Given the description of an element on the screen output the (x, y) to click on. 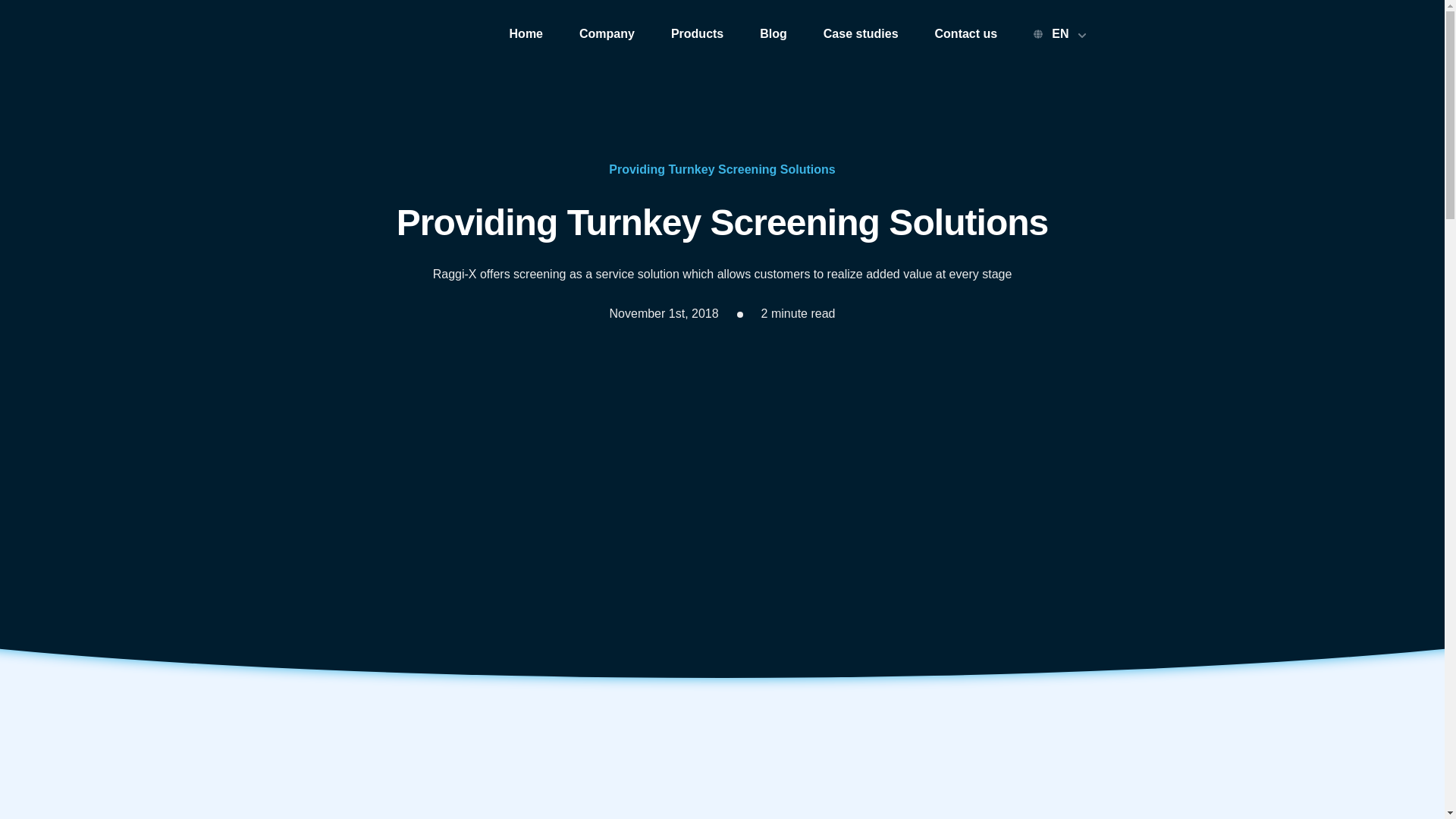
Company (606, 34)
Case studies (861, 34)
Contact us (965, 34)
Home (526, 34)
Products (697, 34)
Blog (773, 34)
